Given the description of an element on the screen output the (x, y) to click on. 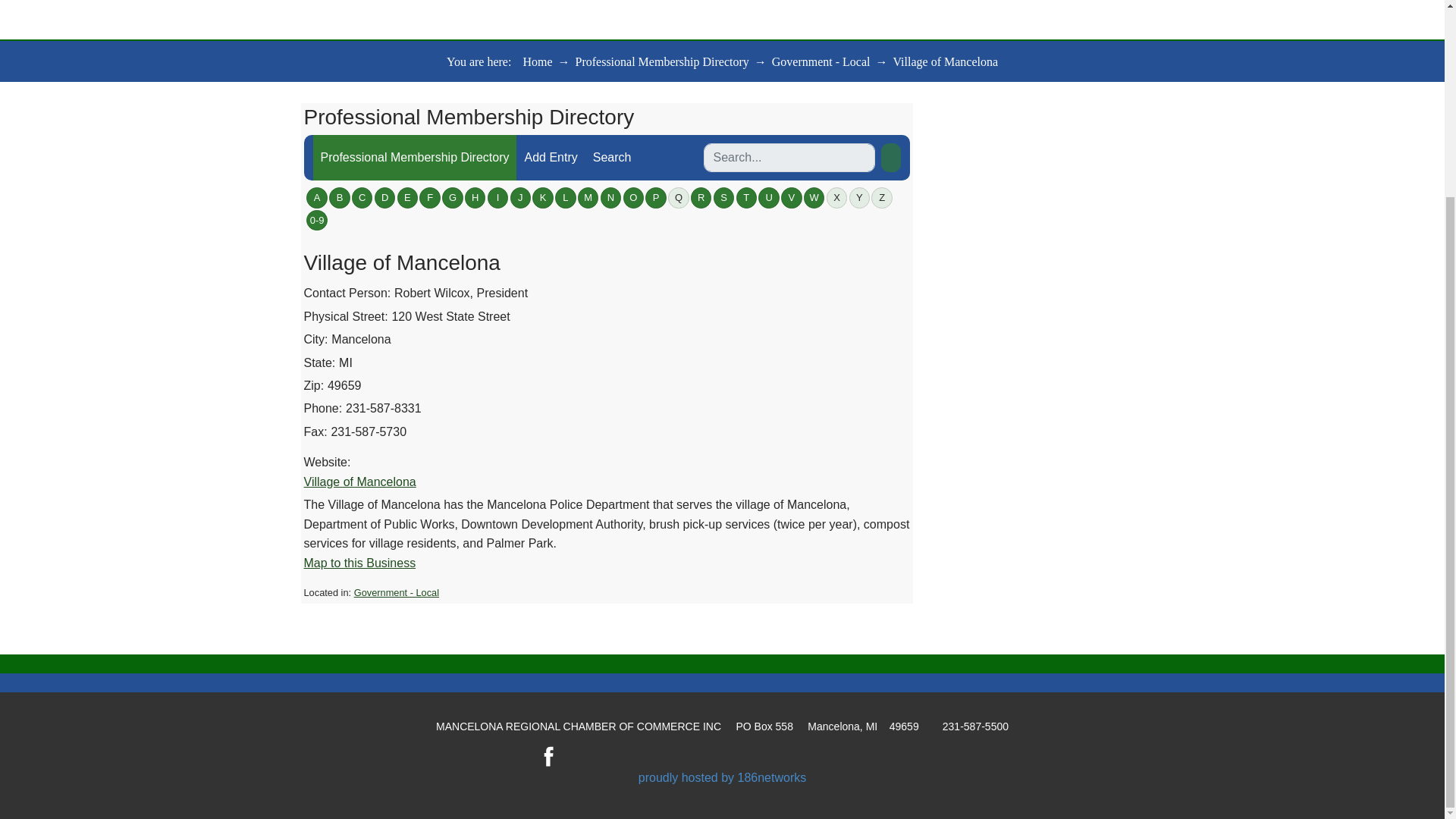
Home (325, 2)
Members (673, 2)
Calendar (577, 2)
Community (778, 2)
News (493, 2)
Business Services (908, 2)
facebook (548, 755)
About Us (411, 2)
Mancelona Buck Pole (1072, 2)
